Given the description of an element on the screen output the (x, y) to click on. 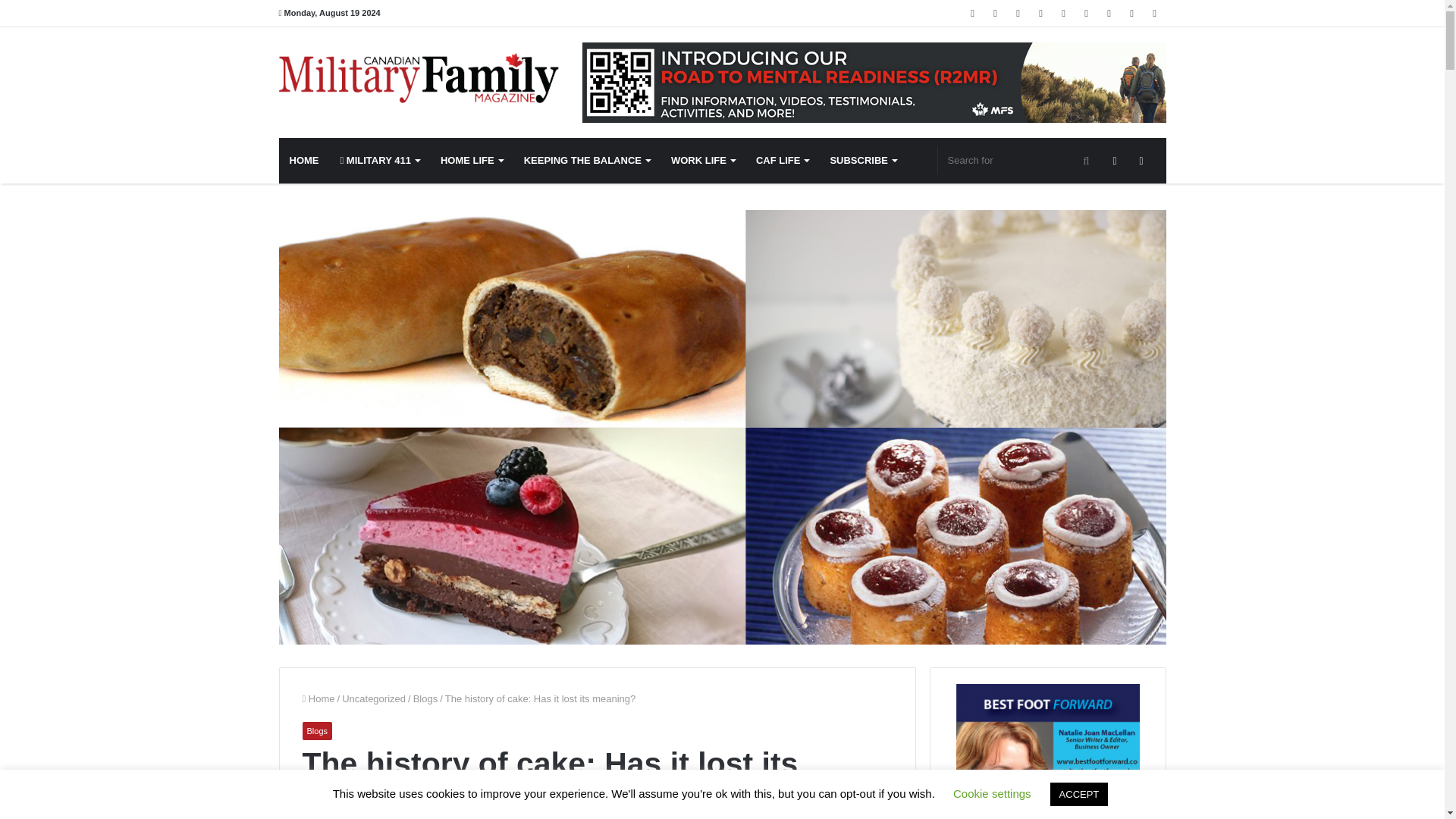
Canadian Military Family Magazine (419, 78)
MILITARY 411 (379, 160)
Search for (1018, 160)
HOME LIFE (471, 160)
WORK LIFE (703, 160)
HOME (304, 160)
KEEPING THE BALANCE (587, 160)
